Given the description of an element on the screen output the (x, y) to click on. 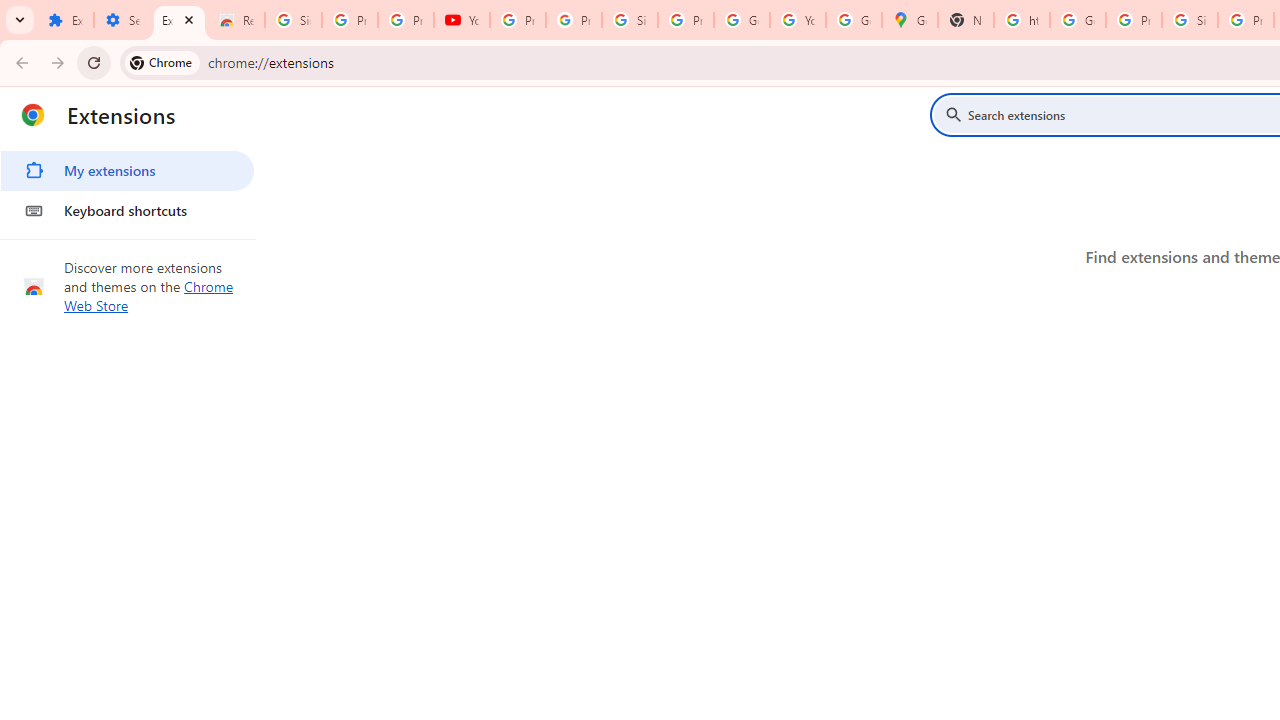
YouTube (797, 20)
YouTube (461, 20)
Sign in - Google Accounts (1190, 20)
Keyboard shortcuts (127, 210)
Extensions (179, 20)
My extensions (127, 170)
Chrome Web Store (149, 296)
https://scholar.google.com/ (1021, 20)
